Given the description of an element on the screen output the (x, y) to click on. 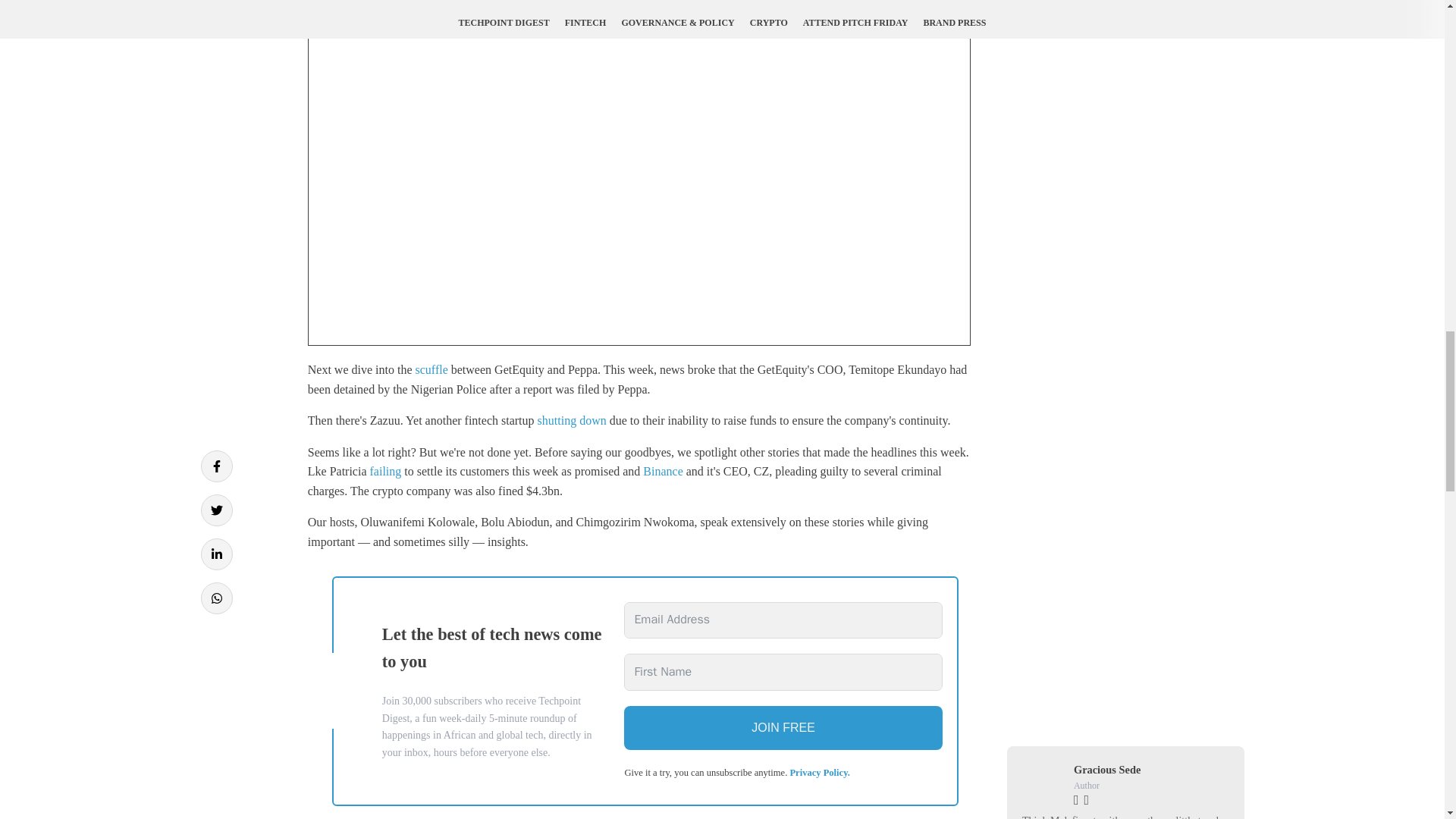
failing (385, 471)
Privacy Policy. (818, 772)
scuffle (431, 369)
Binance (662, 471)
JOIN FREE (783, 727)
shutting down (572, 420)
